Given the description of an element on the screen output the (x, y) to click on. 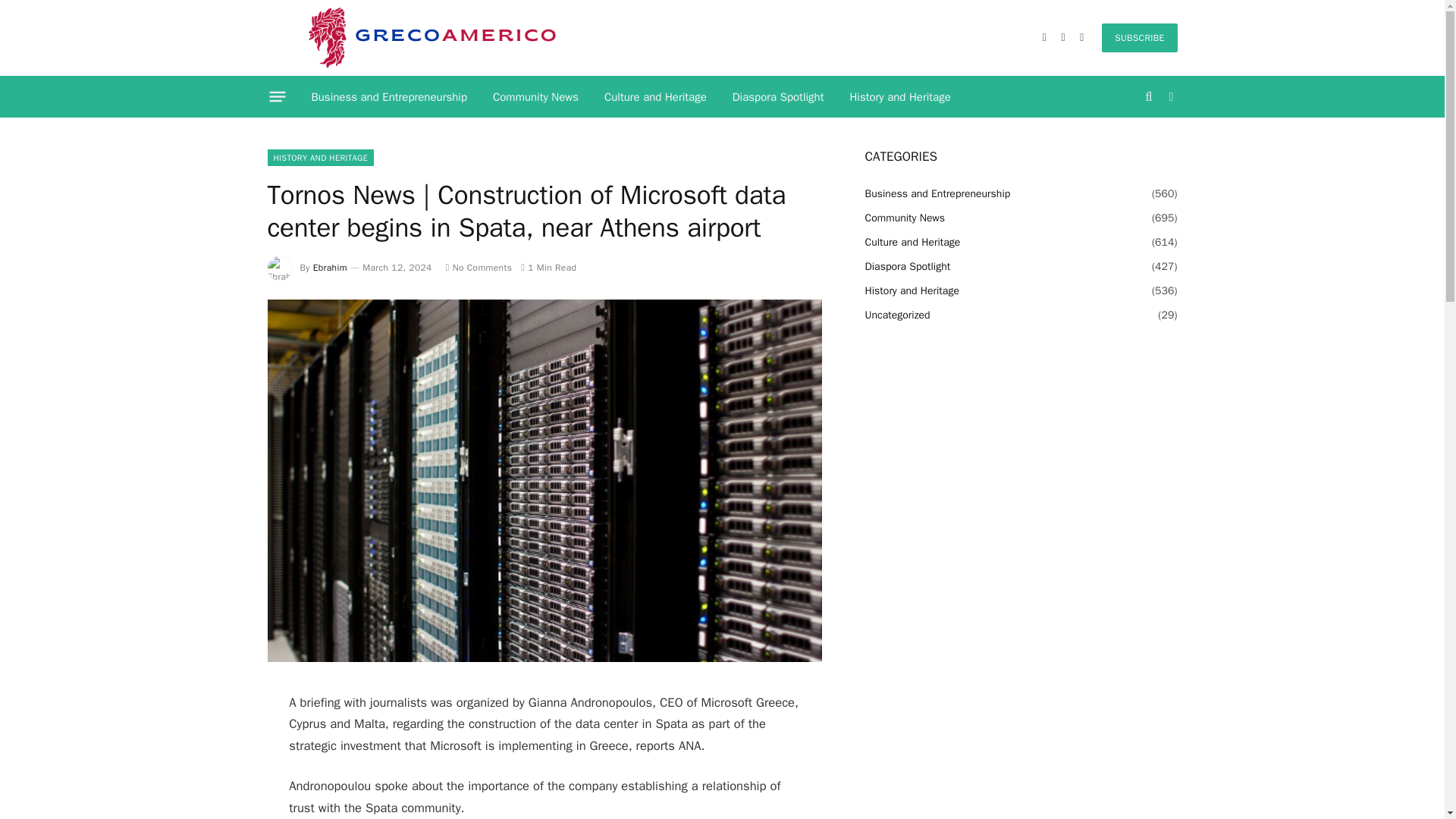
History and Heritage (898, 96)
Facebook (1043, 38)
Business and Entrepreneurship (389, 96)
Twitter (1062, 38)
Diaspora Spotlight (778, 96)
Community News (535, 96)
Greco Americo (431, 38)
Posts by Ebrahim (330, 267)
Ebrahim (330, 267)
Instagram (1081, 38)
HISTORY AND HERITAGE (320, 157)
SUBSCRIBE (1139, 37)
Culture and Heritage (655, 96)
Switch to Dark Design - easier on eyes. (1168, 96)
No Comments (478, 267)
